Given the description of an element on the screen output the (x, y) to click on. 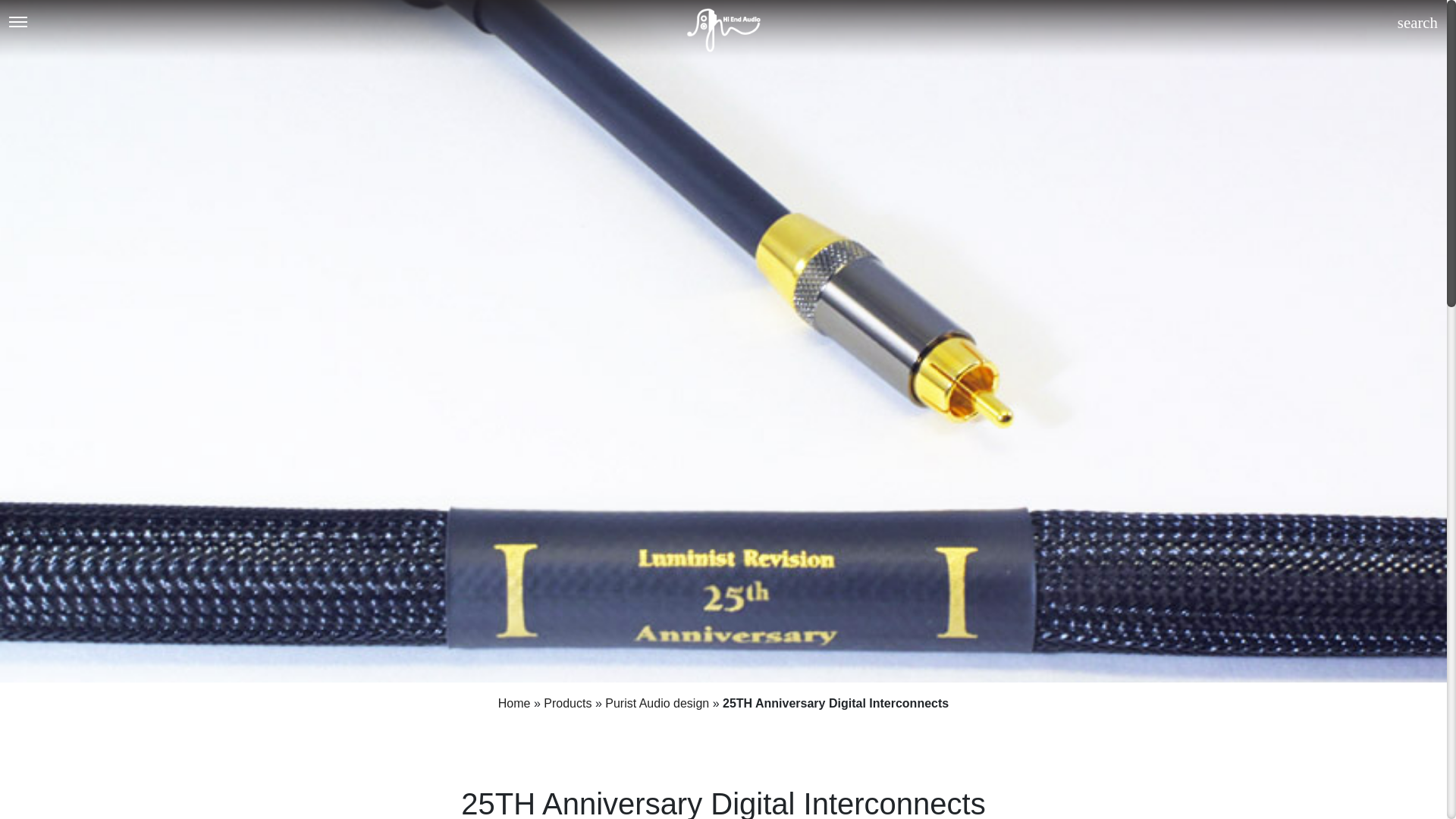
Purist Audio design (657, 703)
Products (567, 703)
Home (514, 703)
